Given the description of an element on the screen output the (x, y) to click on. 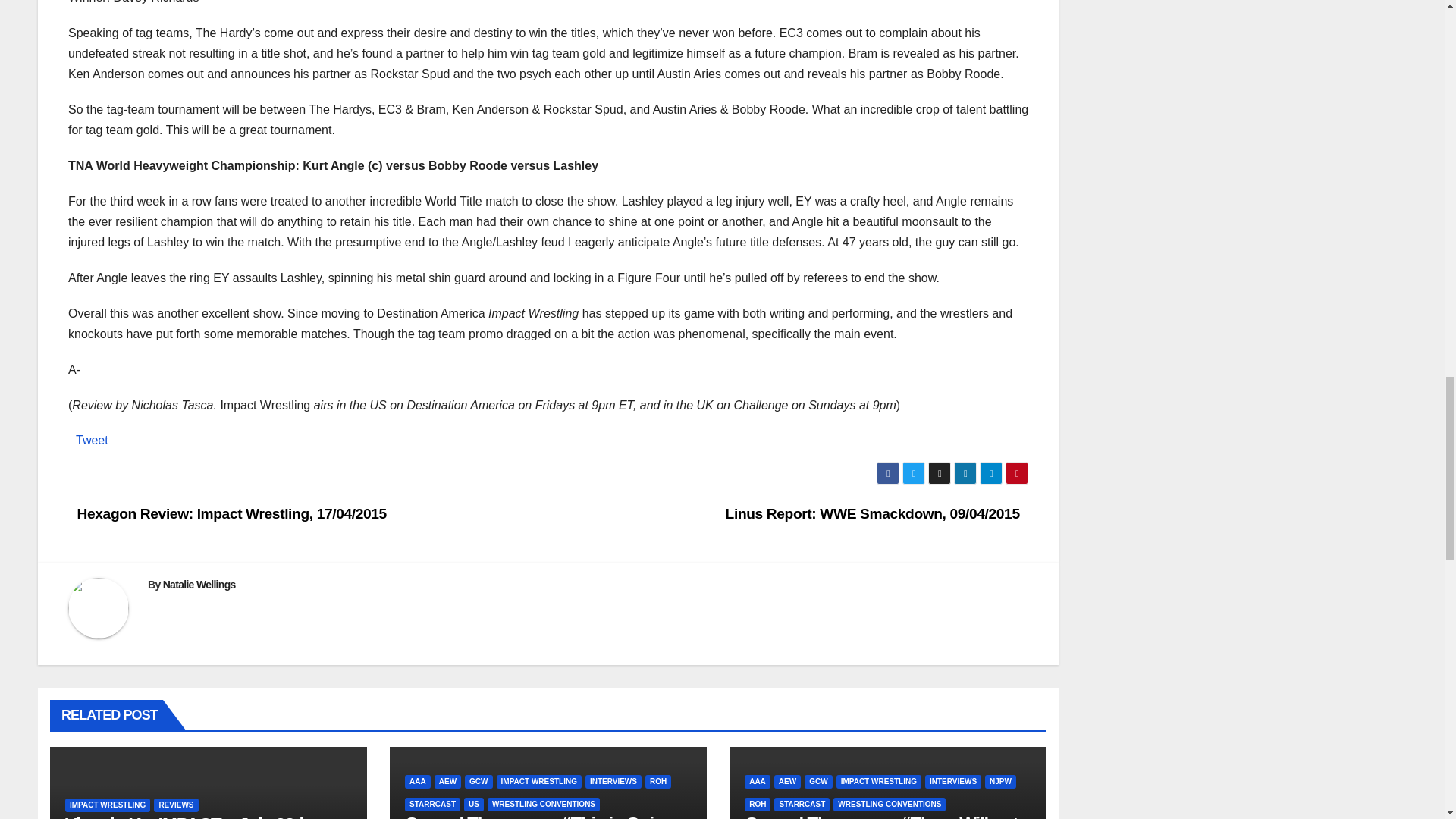
Tweet (91, 440)
Natalie Wellings (199, 584)
